Given the description of an element on the screen output the (x, y) to click on. 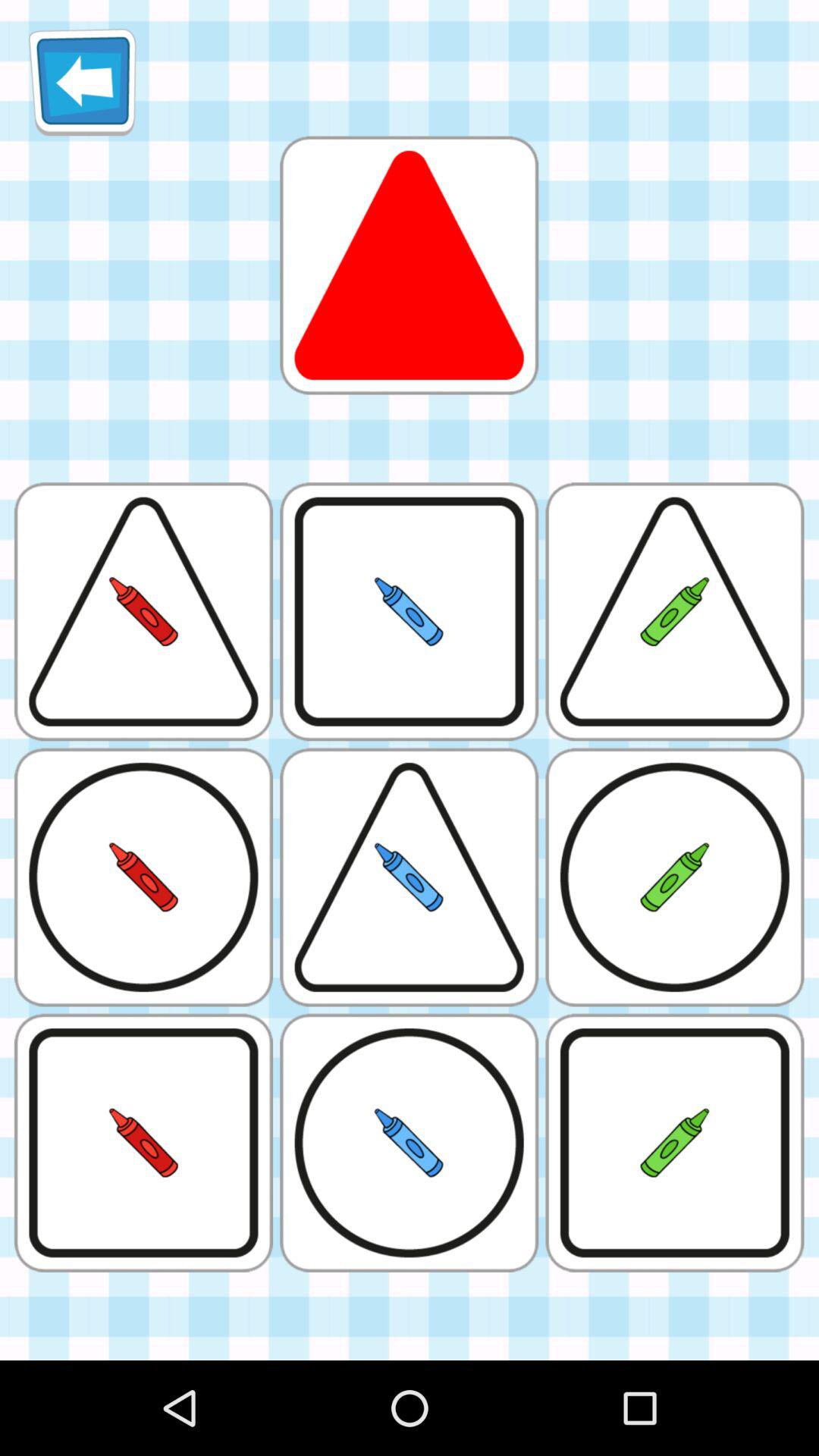
matched item (409, 265)
